Given the description of an element on the screen output the (x, y) to click on. 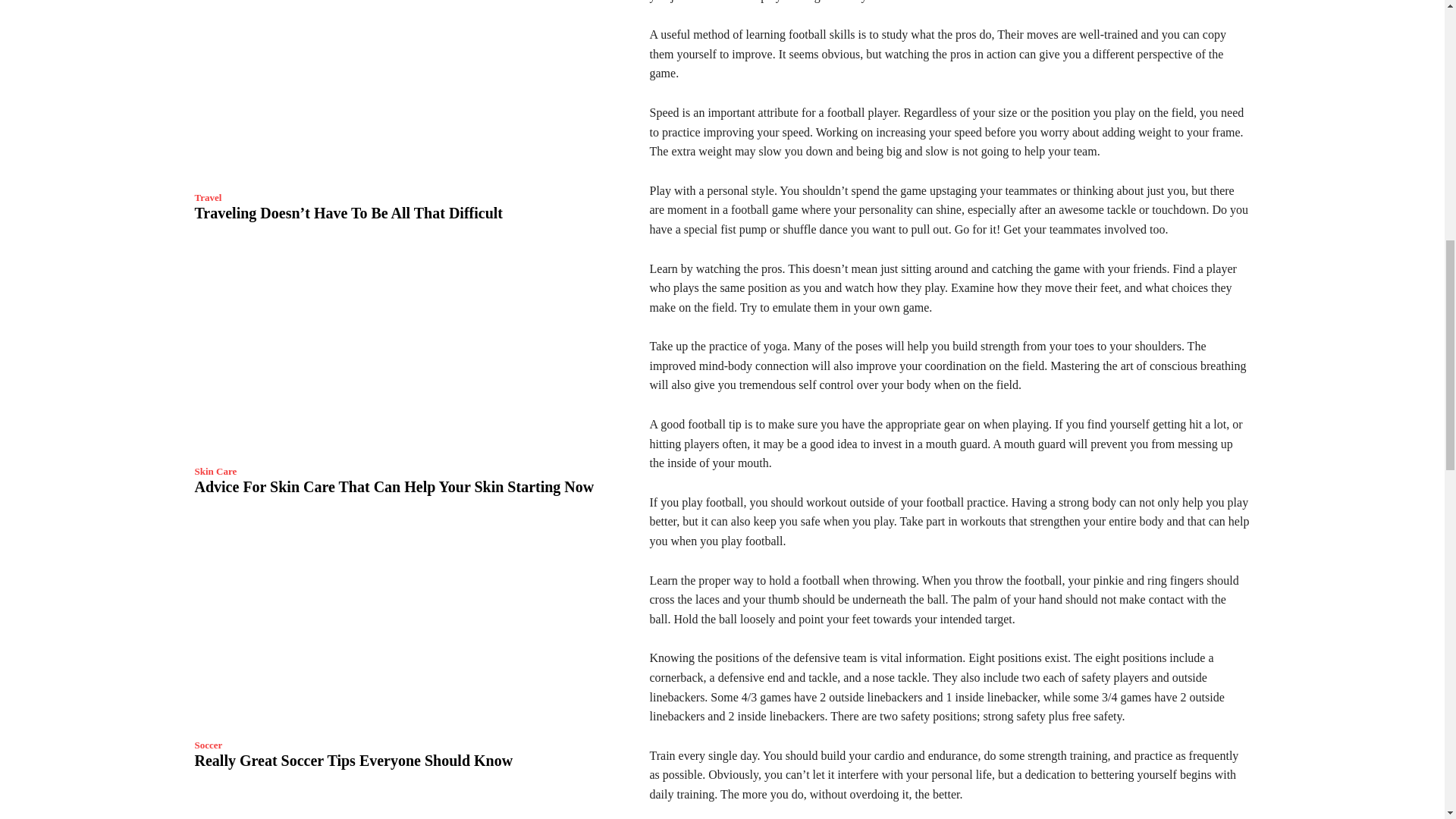
Really Great Soccer Tips Everyone Should Know (402, 625)
Really Great Soccer Tips Everyone Should Know (352, 760)
Soccer (207, 745)
Travel (207, 197)
Advice For Skin Care That Can Help Your Skin Starting Now (402, 351)
Skin Care (214, 470)
Advice For Skin Care That Can Help Your Skin Starting Now (393, 486)
Advice For Skin Care That Can Help Your Skin Starting Now (393, 486)
